Given the description of an element on the screen output the (x, y) to click on. 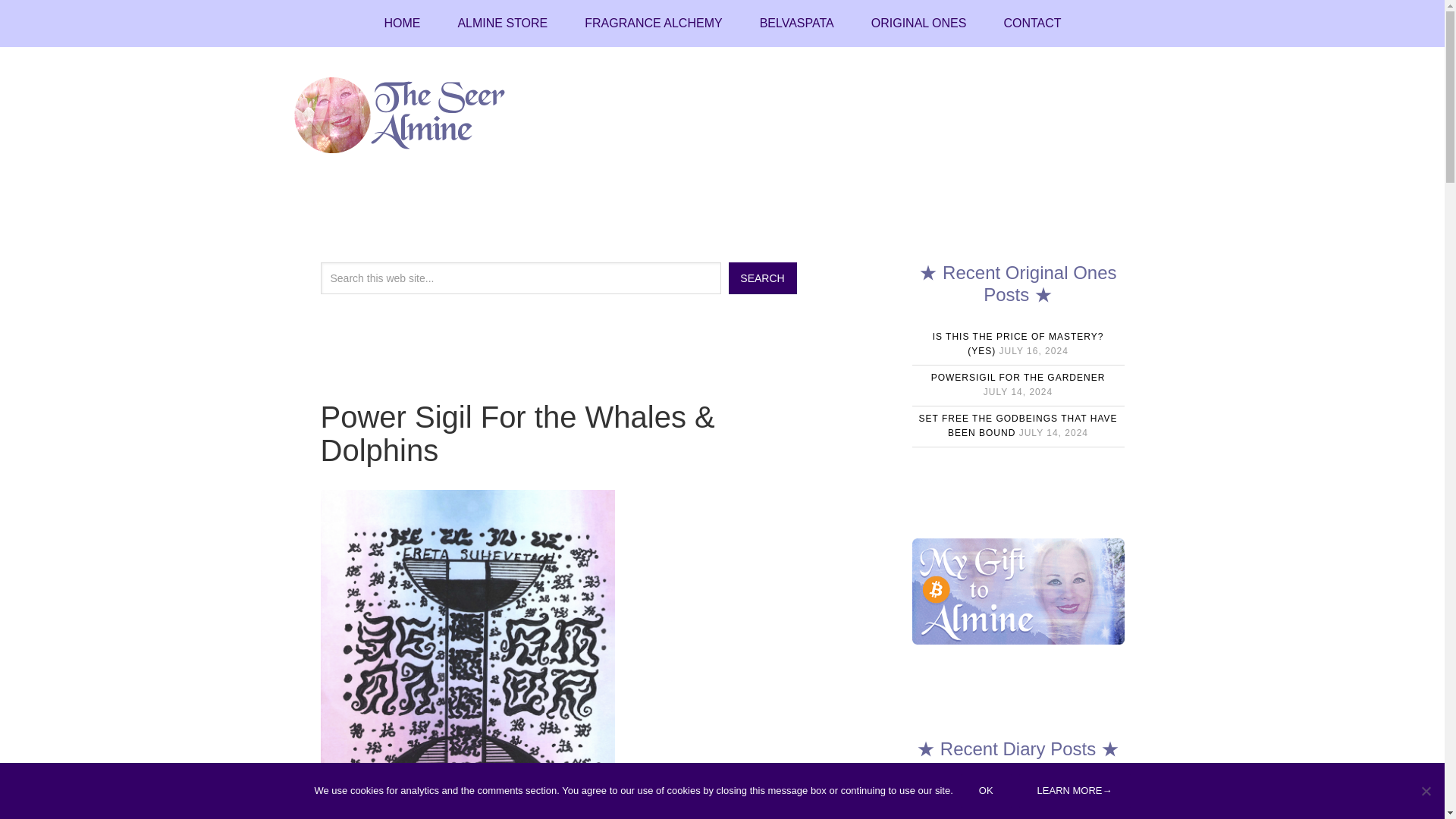
HOME (401, 23)
Search (762, 278)
Search (762, 278)
FRAGRANCE ALCHEMY (652, 23)
Search (762, 278)
BELVASPATA (796, 23)
ALMINE STORE (502, 23)
POWERSIGIL FOR THE GARDENER (1018, 377)
No (1425, 790)
ORIGINAL ONES (918, 23)
ALMINE (410, 114)
Go to the Diary home page (401, 23)
CONTACT (1031, 23)
POWER SIGIL FOR THE SEVEN GIANTS NEWLY AWAKENED FROM STASIS (1018, 797)
SET FREE THE GODBEINGS THAT HAVE BEEN BOUND (1017, 425)
